Given the description of an element on the screen output the (x, y) to click on. 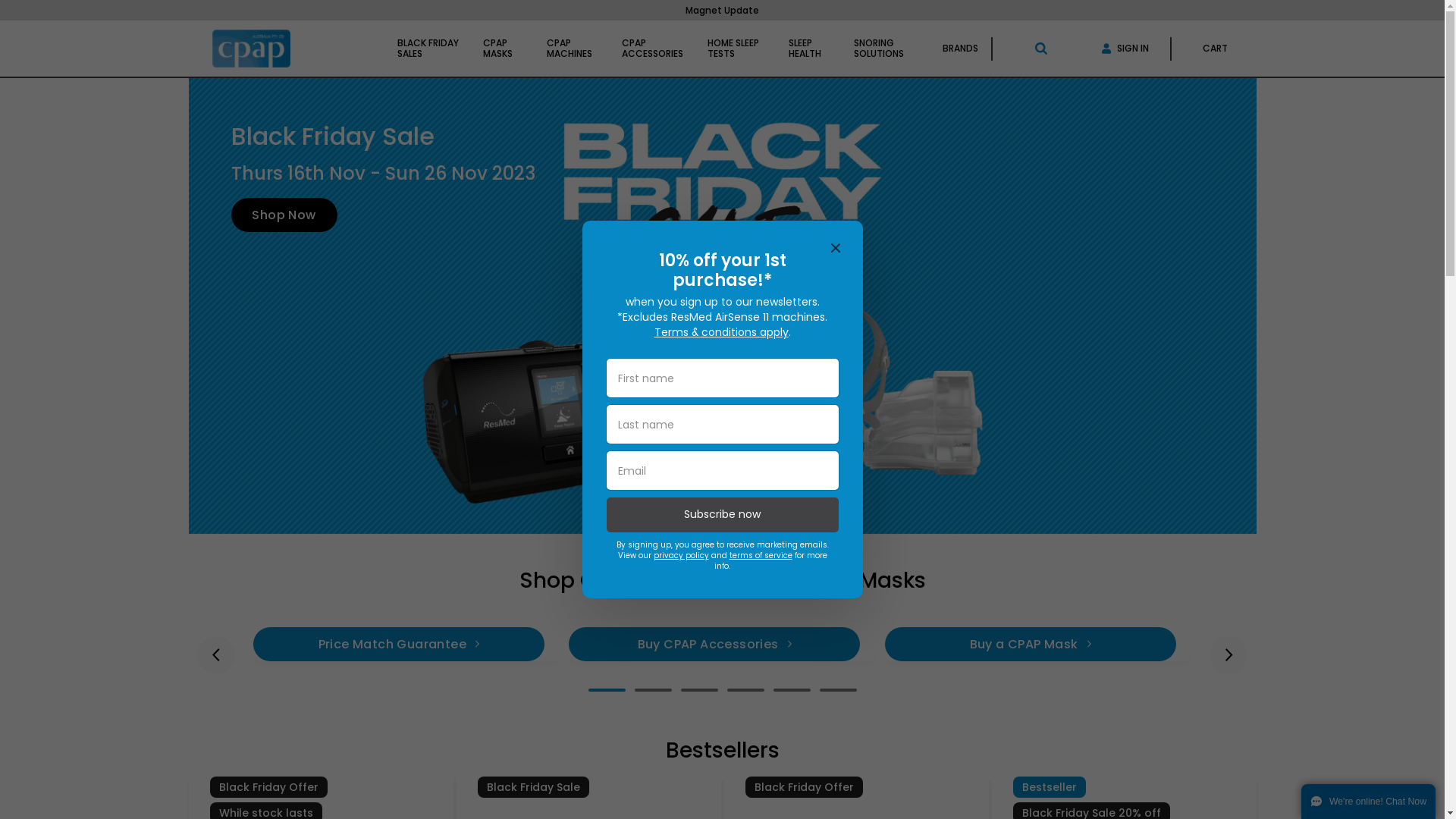
Shop Now Element type: text (283, 214)
CPAP ACCESSORIES Element type: text (652, 48)
BLACK FRIDAY SALES IS ON! Element type: text (722, 10)
SLEEP HEALTH Element type: text (808, 48)
CPAP Australia Element type: hover (251, 48)
Black Friday Offer Element type: text (803, 786)
Bestseller Element type: text (1049, 786)
BRANDS Element type: text (960, 48)
Black Friday Sale Element type: text (533, 786)
Price Match Guarantee Element type: text (398, 644)
HOME SLEEP TESTS Element type: text (735, 48)
SNORING SOLUTIONS Element type: text (885, 48)
CPAP MACHINES Element type: text (571, 48)
Buy a CPAP Mask Element type: text (1030, 644)
Black Friday Offer Element type: text (267, 786)
CPAP MASKS Element type: text (502, 48)
BLACK FRIDAY SALES Element type: text (428, 48)
Buy CPAP Accessories Element type: text (713, 644)
SIGN IN Element type: text (1124, 48)
CART Element type: text (1214, 48)
